Given the description of an element on the screen output the (x, y) to click on. 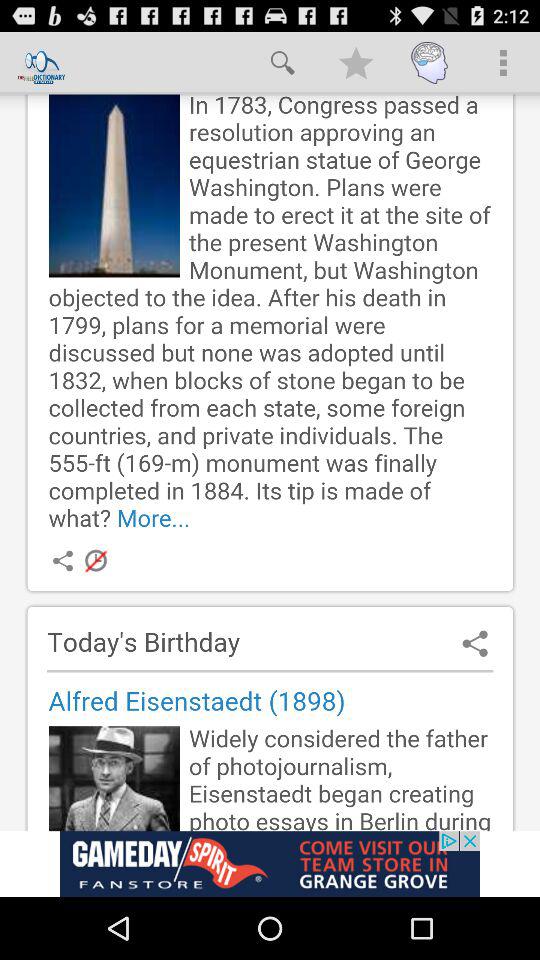
advertisement icon (270, 864)
